Given the description of an element on the screen output the (x, y) to click on. 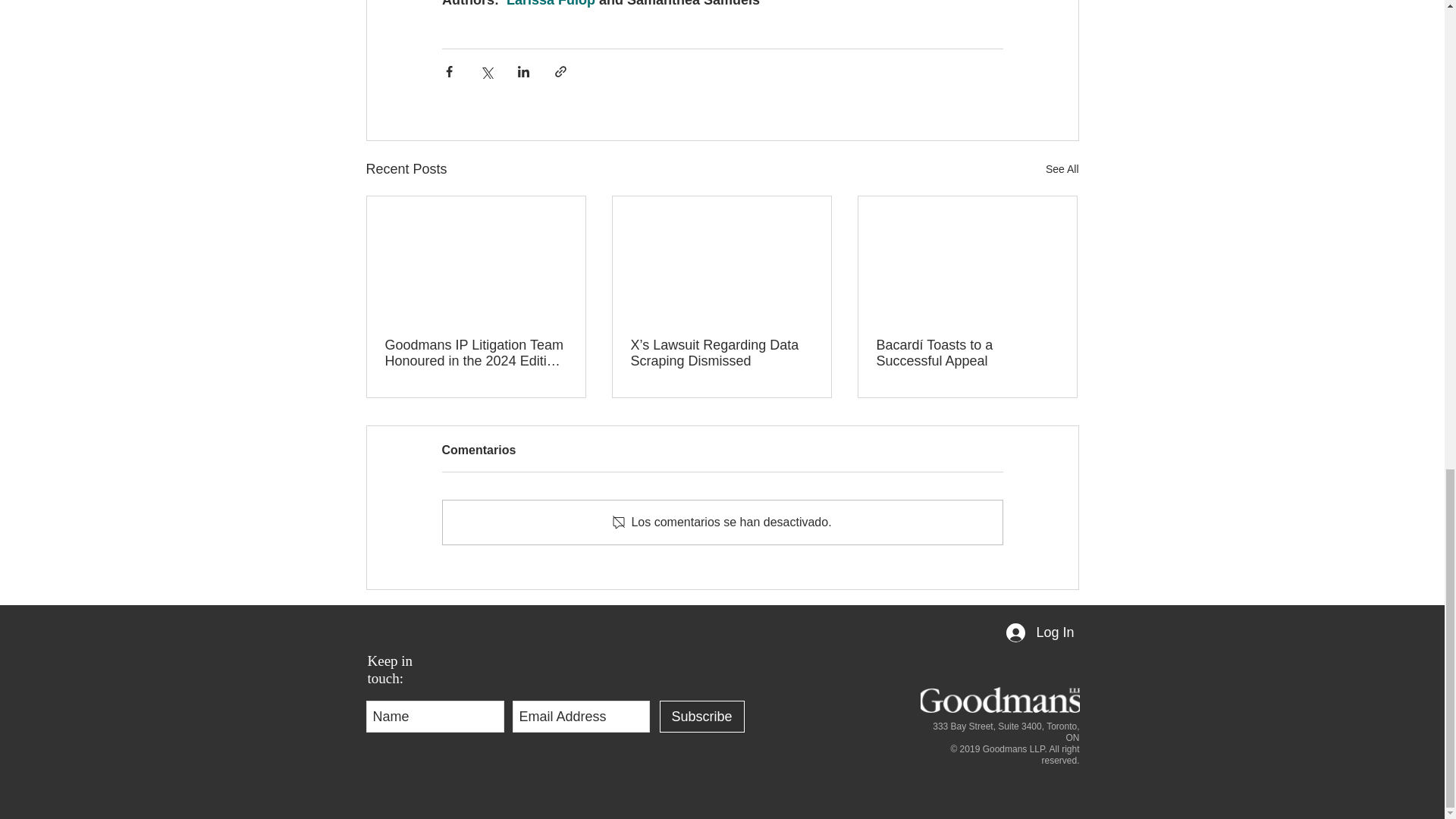
Subscribe (701, 716)
Larissa Fulop (550, 3)
Log In (1039, 633)
See All (1061, 169)
